Given the description of an element on the screen output the (x, y) to click on. 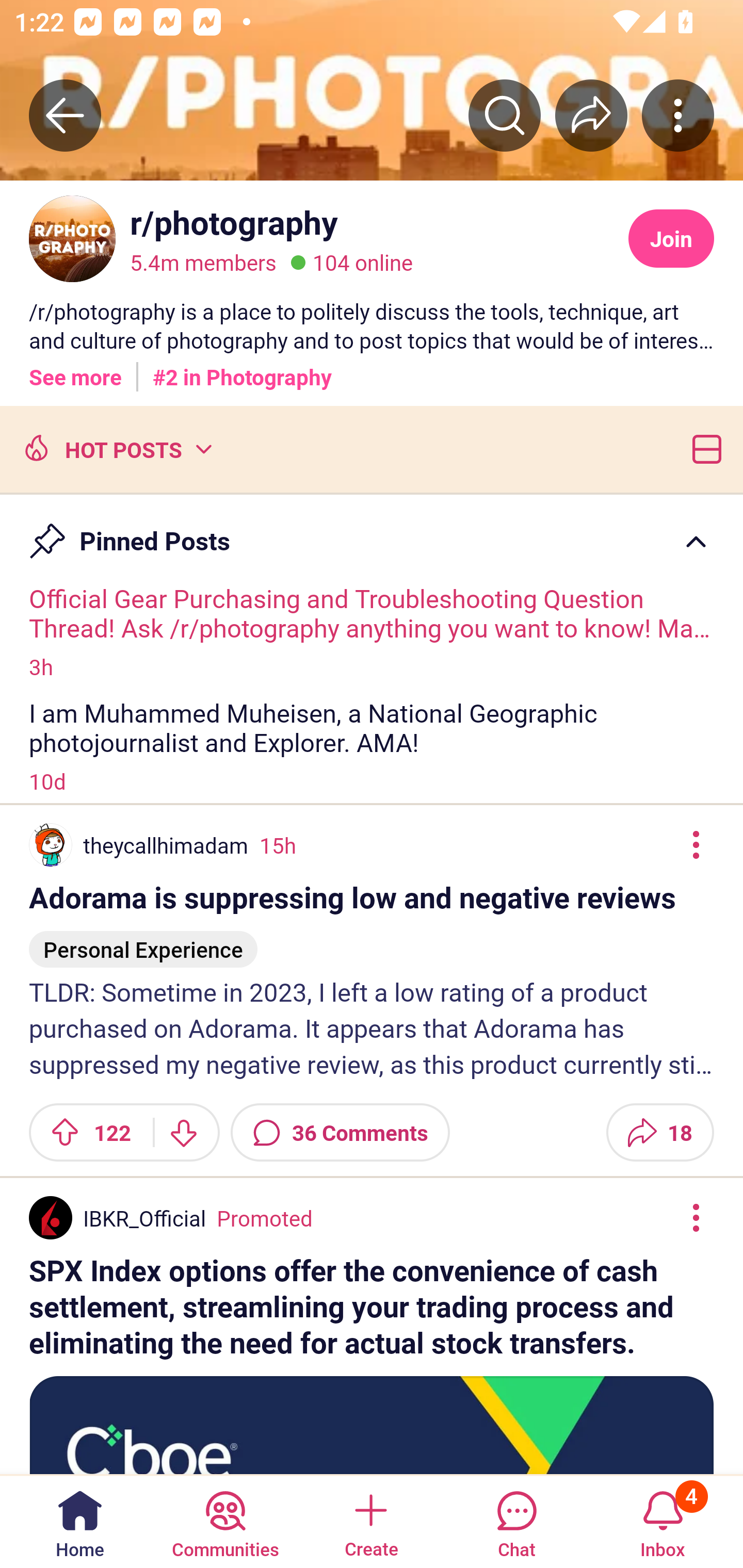
Back (64, 115)
Search r/﻿photography (504, 115)
Share r/﻿photography (591, 115)
More community actions (677, 115)
Hot posts HOT POSTS (116, 448)
Card (703, 448)
Pin Pinned Posts Caret (371, 531)
Personal Experience (142, 940)
Home (80, 1520)
Communities (225, 1520)
Create a post Create (370, 1520)
Chat (516, 1520)
Inbox, has 4 notifications 4 Inbox (662, 1520)
